Given the description of an element on the screen output the (x, y) to click on. 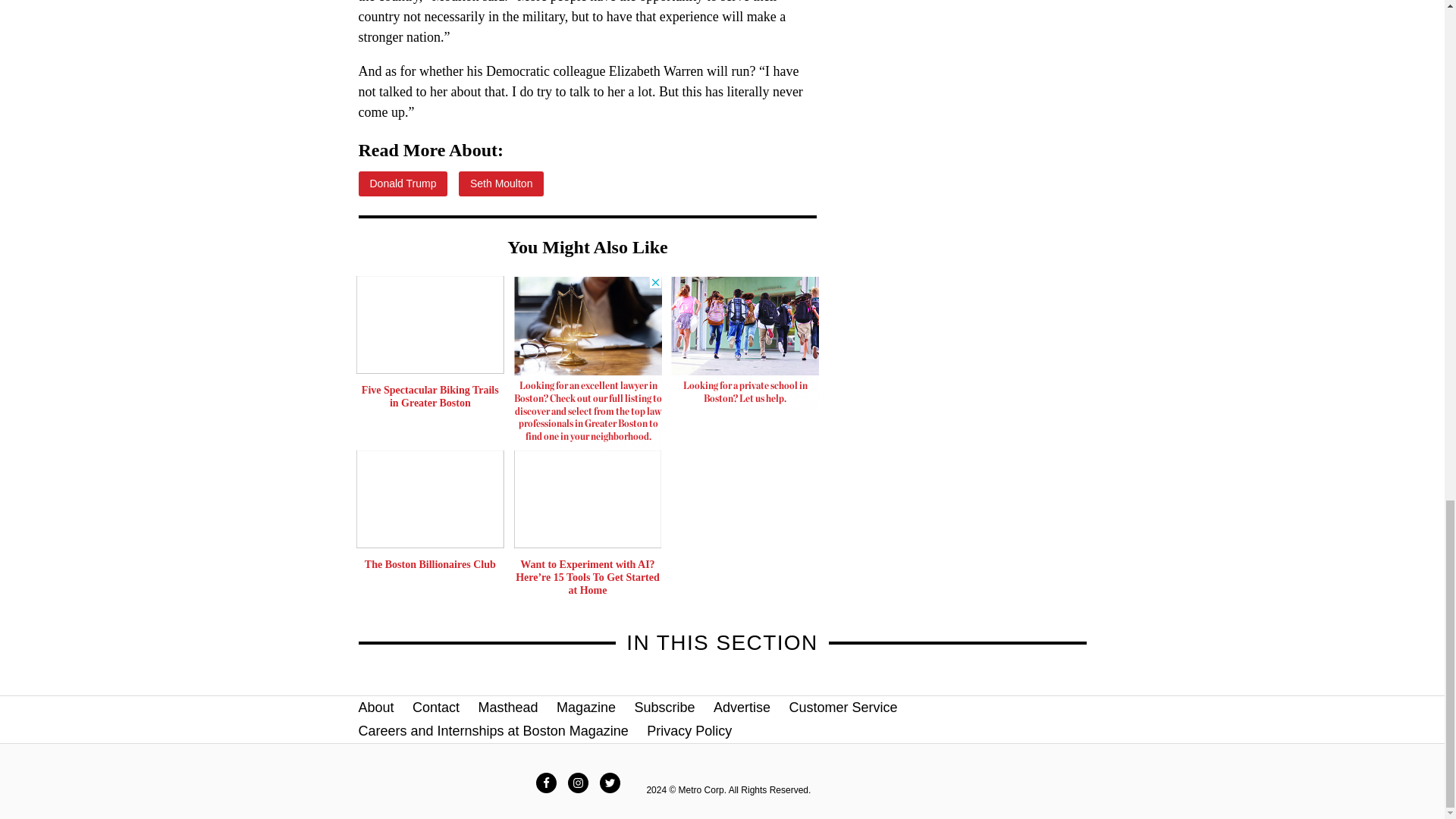
3rd party ad content (744, 344)
